Given the description of an element on the screen output the (x, y) to click on. 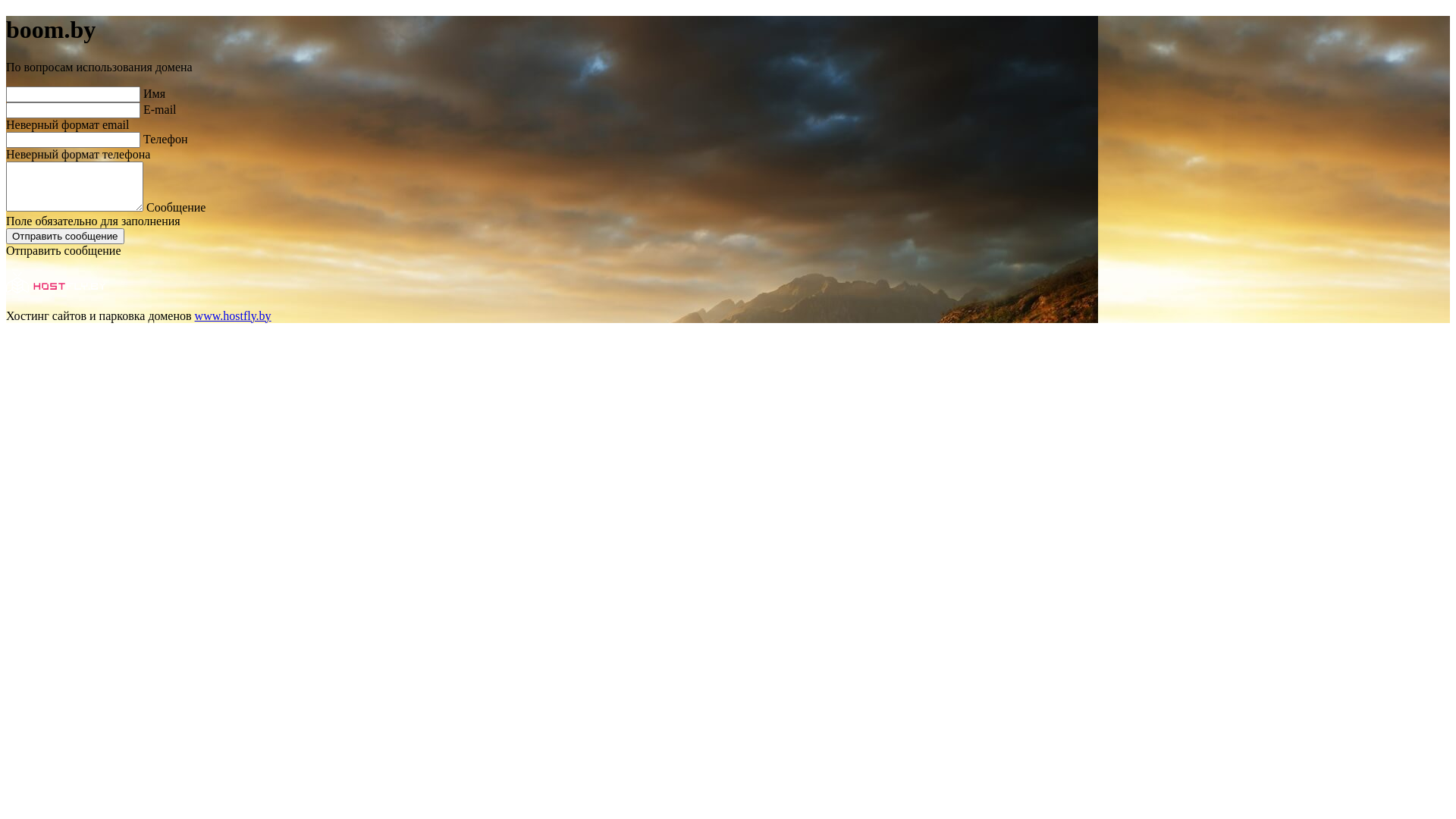
www.hostfly.by Element type: text (232, 315)
